Given the description of an element on the screen output the (x, y) to click on. 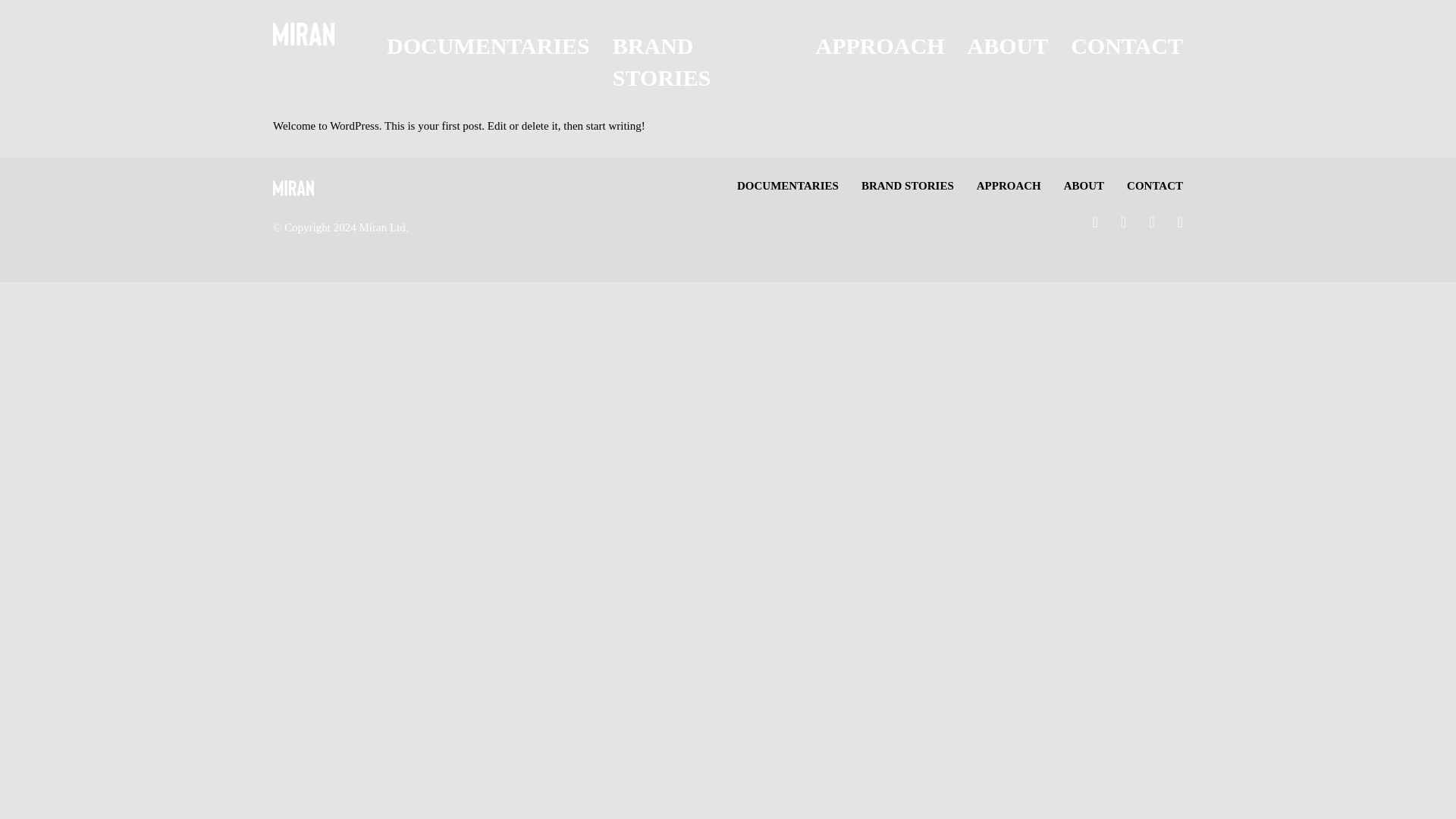
BRAND STORIES (907, 185)
CONTACT (1126, 45)
DOCUMENTARIES (488, 45)
CONTACT (1154, 185)
DOCUMENTARIES (787, 185)
BRAND STORIES (661, 61)
APPROACH (879, 45)
ABOUT (1083, 185)
Miran Media (341, 187)
ABOUT (1008, 45)
APPROACH (1008, 185)
Miran Media (318, 33)
